Given the description of an element on the screen output the (x, y) to click on. 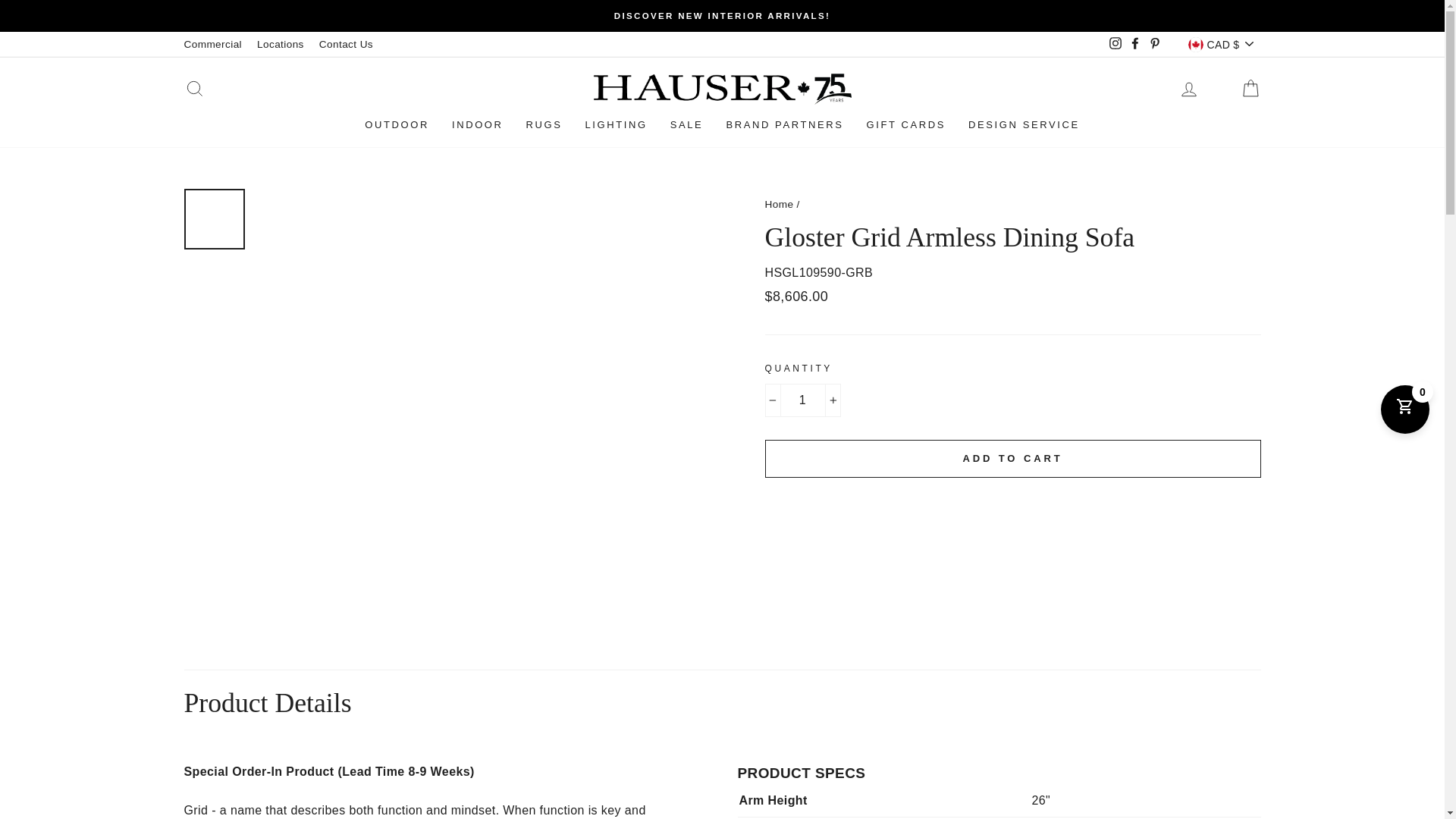
Back to the frontpage (778, 204)
1 (802, 400)
